Given the description of an element on the screen output the (x, y) to click on. 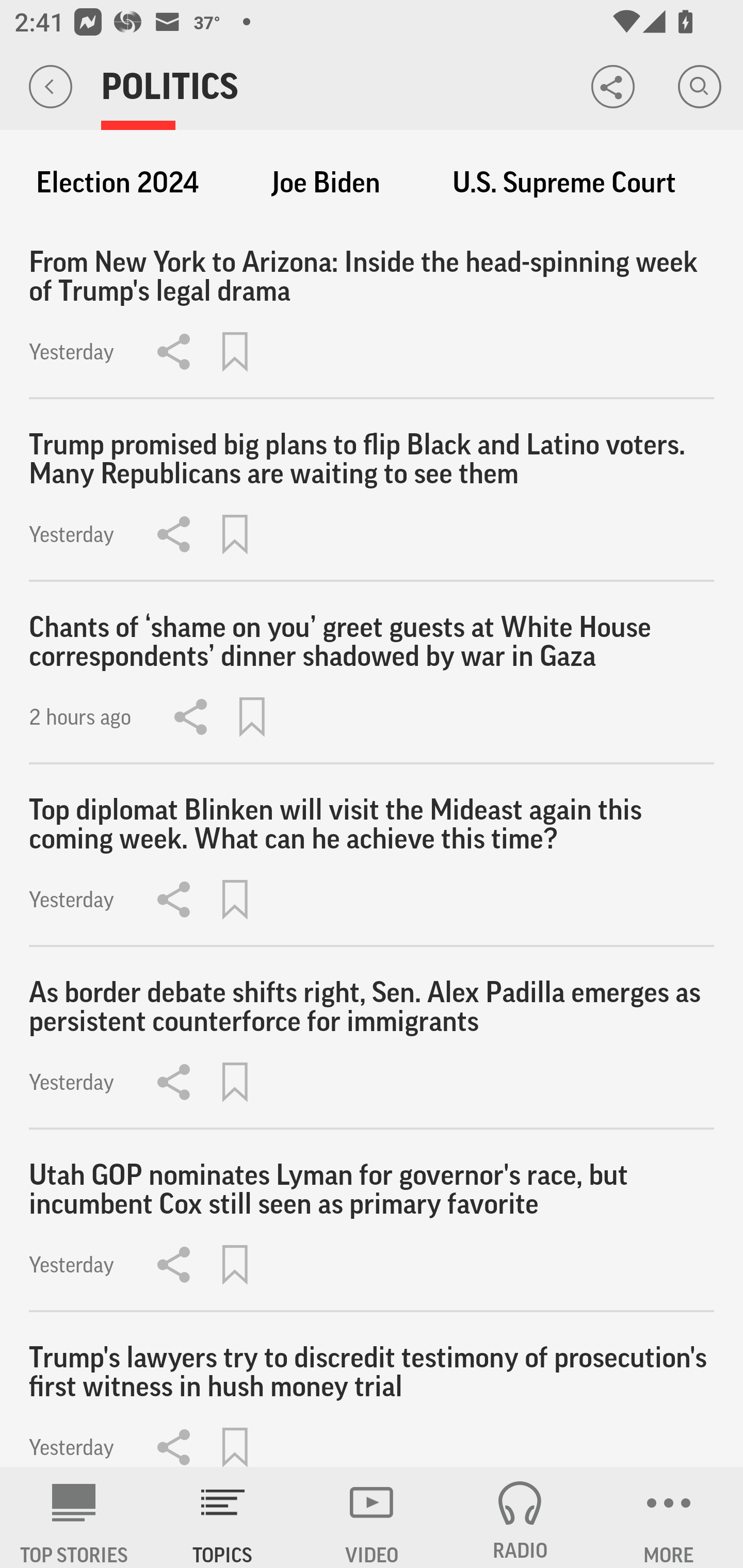
Election 2024 (116, 182)
Joe Biden (325, 182)
U.S. Supreme Court (564, 182)
AP News TOP STORIES (74, 1517)
TOPICS (222, 1517)
VIDEO (371, 1517)
RADIO (519, 1517)
MORE (668, 1517)
